Given the description of an element on the screen output the (x, y) to click on. 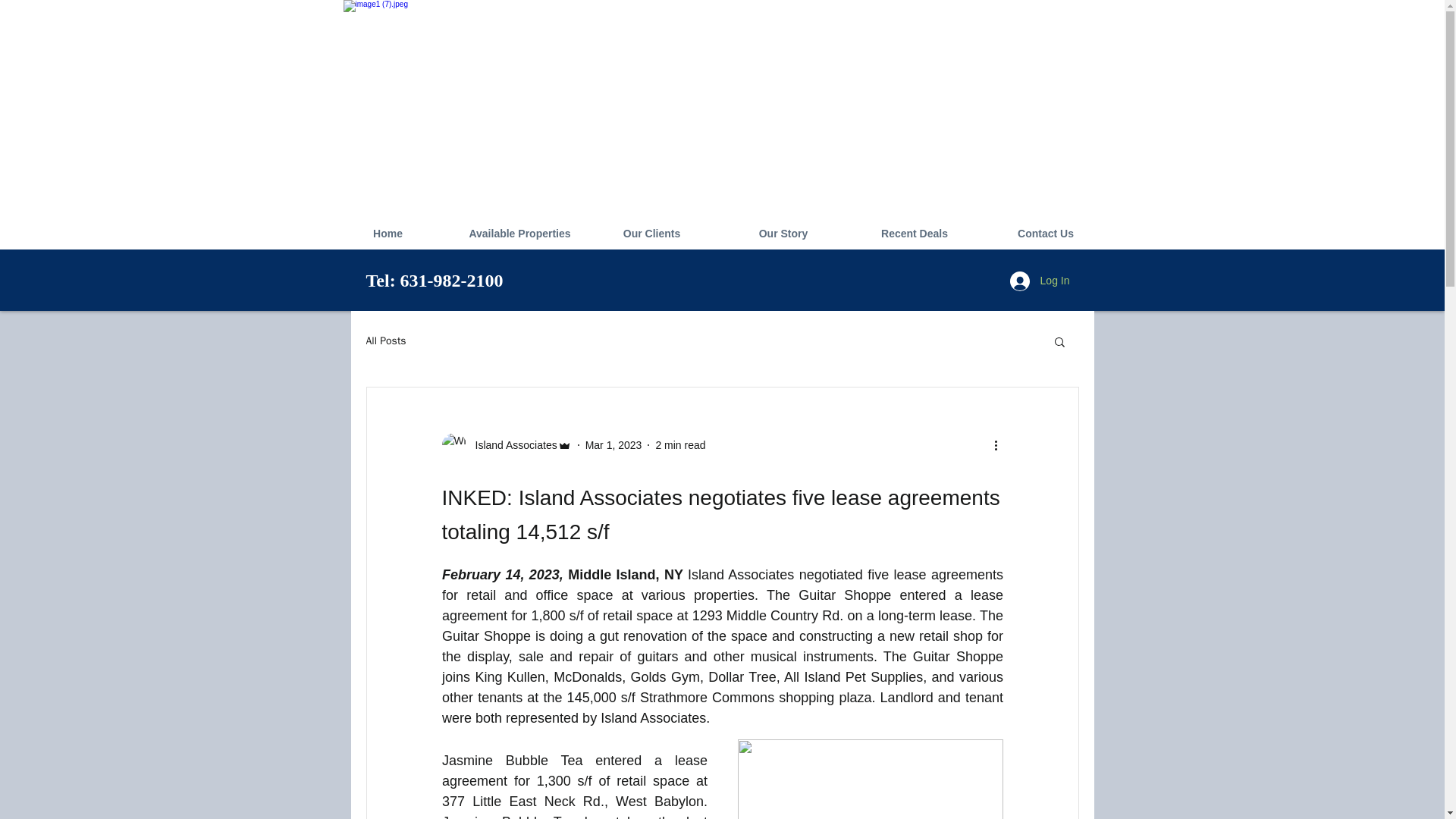
Our Clients (651, 233)
All Posts (385, 341)
Mar 1, 2023 (613, 444)
Island Associates (505, 445)
Home (386, 233)
Our Story (782, 233)
2 min read (679, 444)
Contact Us (1044, 233)
Available Properties (518, 233)
Log In (1039, 280)
